Given the description of an element on the screen output the (x, y) to click on. 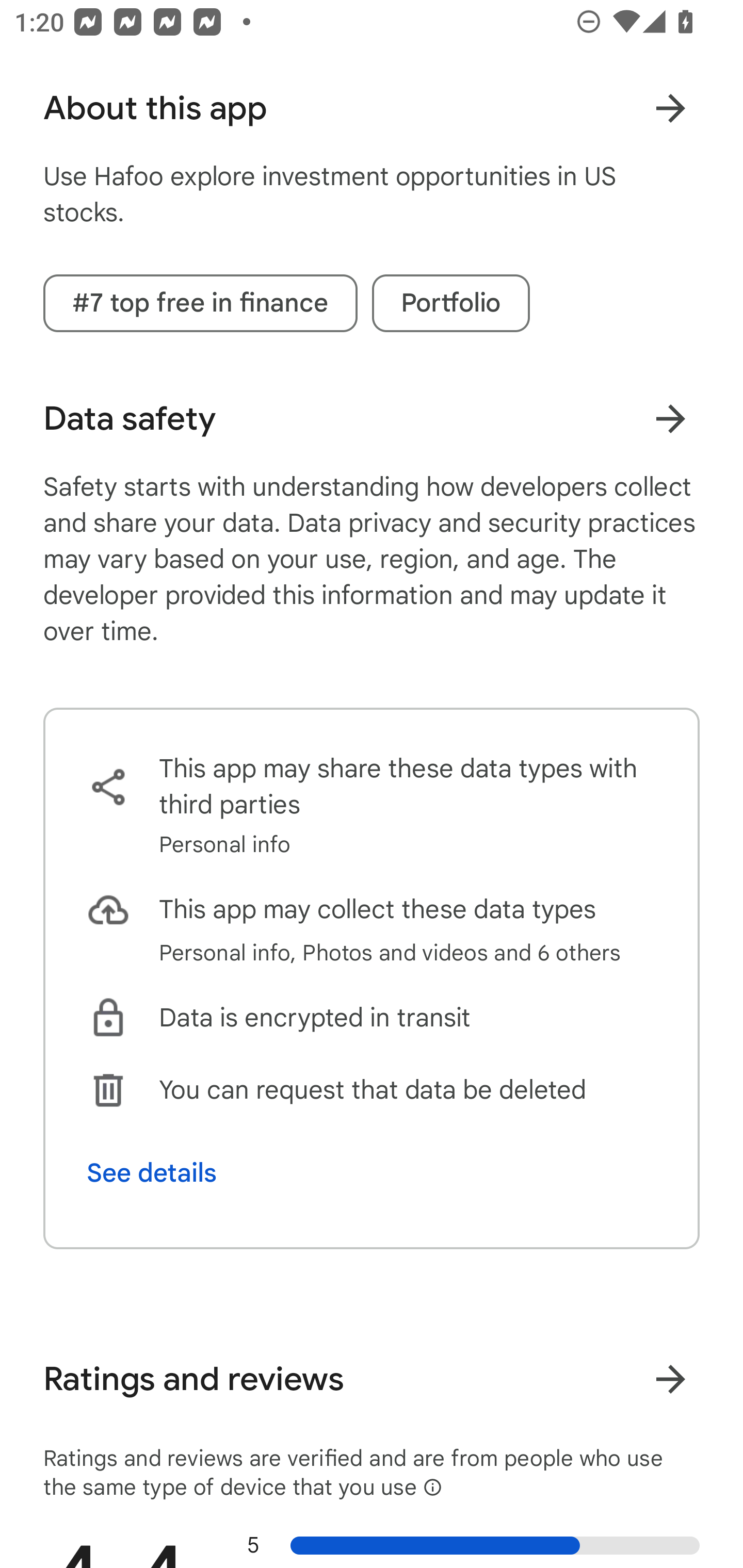
About this app Learn more About this app (371, 108)
Learn more About this app (670, 108)
#7 top free in finance tag (200, 303)
Portfolio tag (450, 303)
Data safety Learn more about data safety (371, 418)
Learn more about data safety (670, 418)
See details (151, 1173)
Ratings and reviews View all ratings and reviews (371, 1379)
View all ratings and reviews (670, 1378)
